Given the description of an element on the screen output the (x, y) to click on. 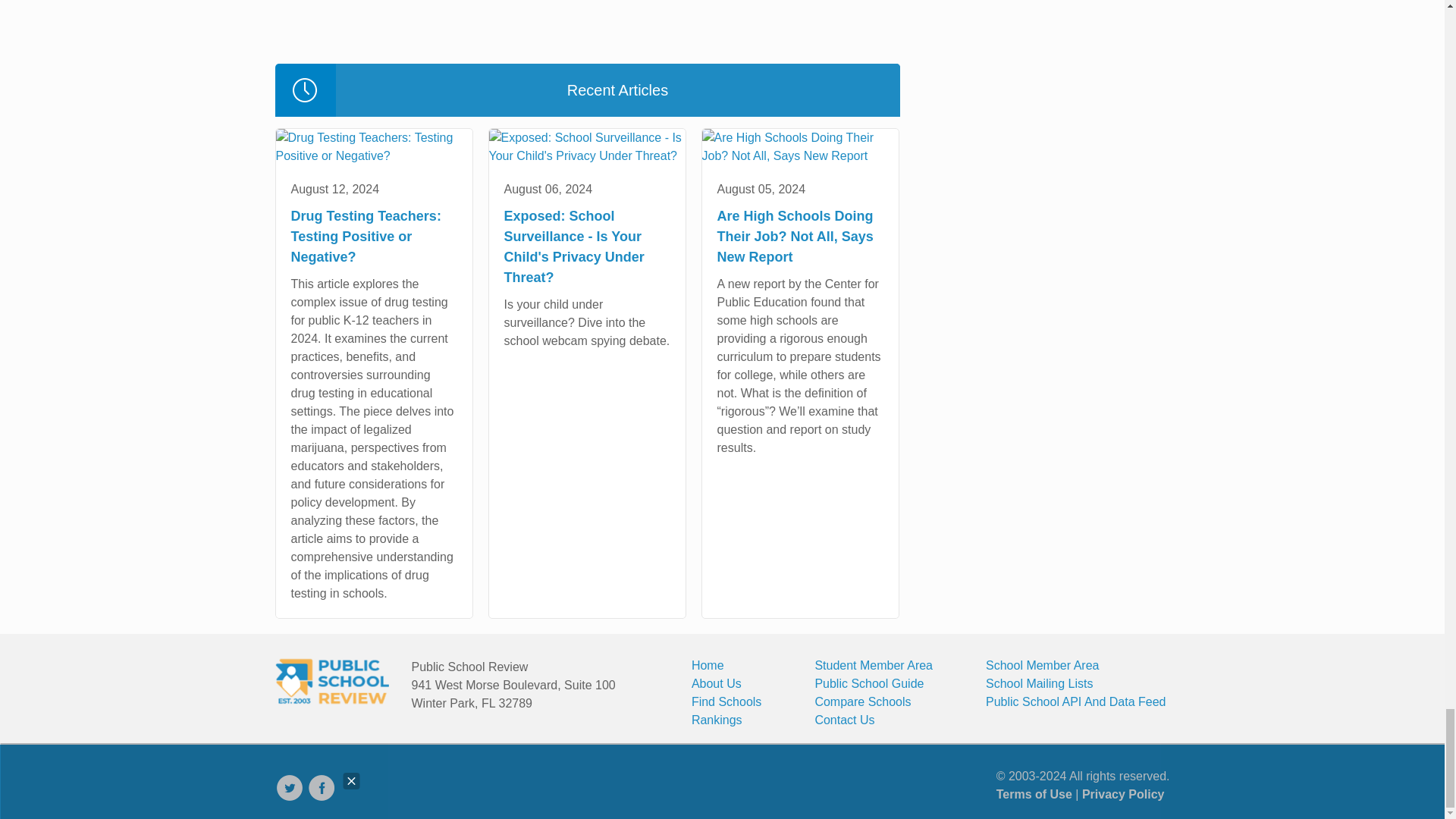
Are High Schools Doing Their Job? Not All, Says New Report (799, 146)
Drug Testing Teachers: Testing Positive or Negative? (373, 146)
